Given the description of an element on the screen output the (x, y) to click on. 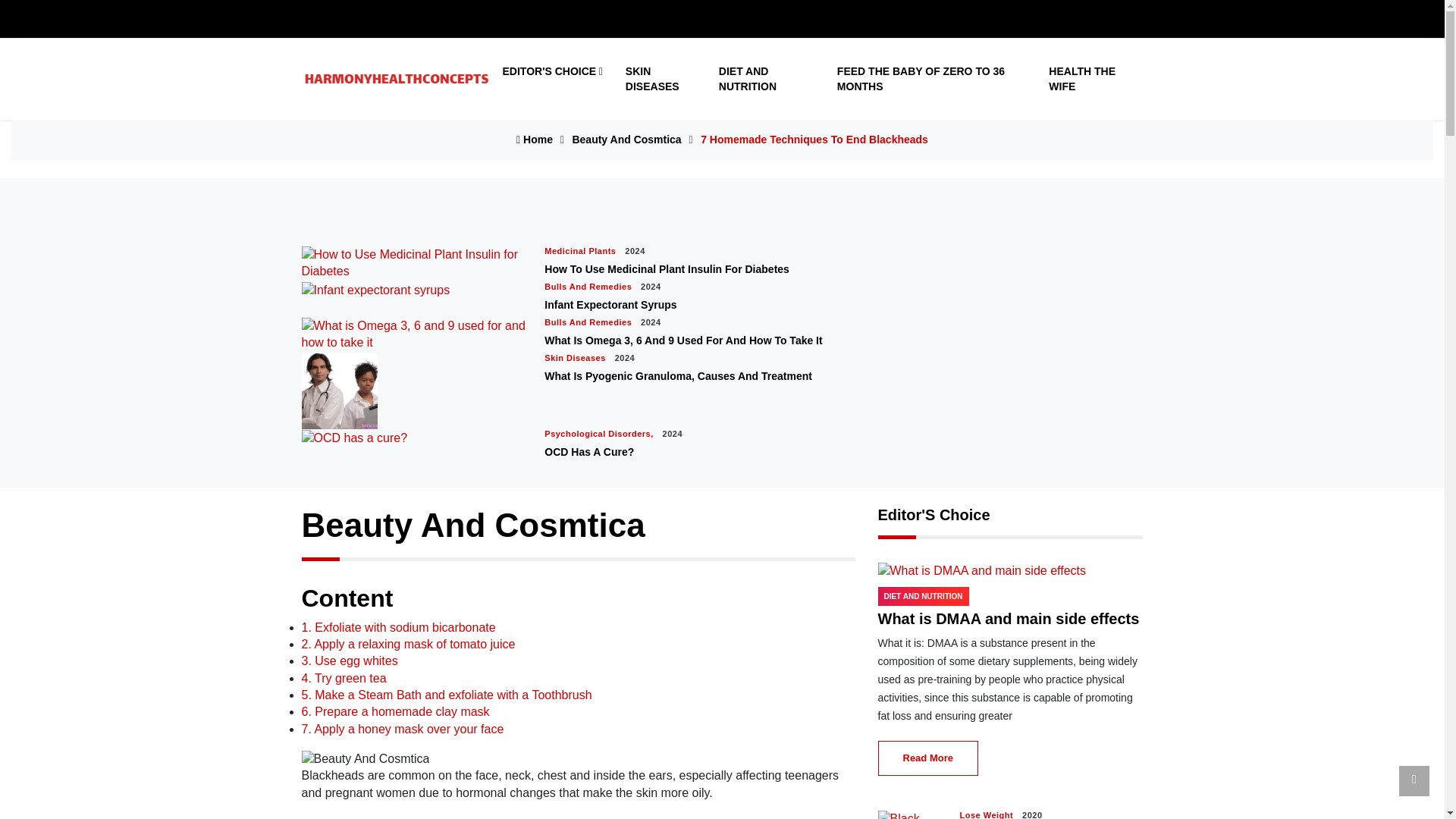
Home (534, 139)
OCD Has A Cure? (588, 451)
What Is Pyogenic Granuloma, Causes And Treatment (678, 376)
3. Use egg whites (349, 660)
2. Apply a relaxing mask of tomato juice (408, 644)
1. Exfoliate with sodium bicarbonate (398, 626)
FEED THE BABY OF ZERO TO 36 MONTHS (931, 78)
HEALTH THE WIFE (1089, 78)
Infant Expectorant Syrups (610, 304)
DIET AND NUTRITION (766, 78)
